Given the description of an element on the screen output the (x, y) to click on. 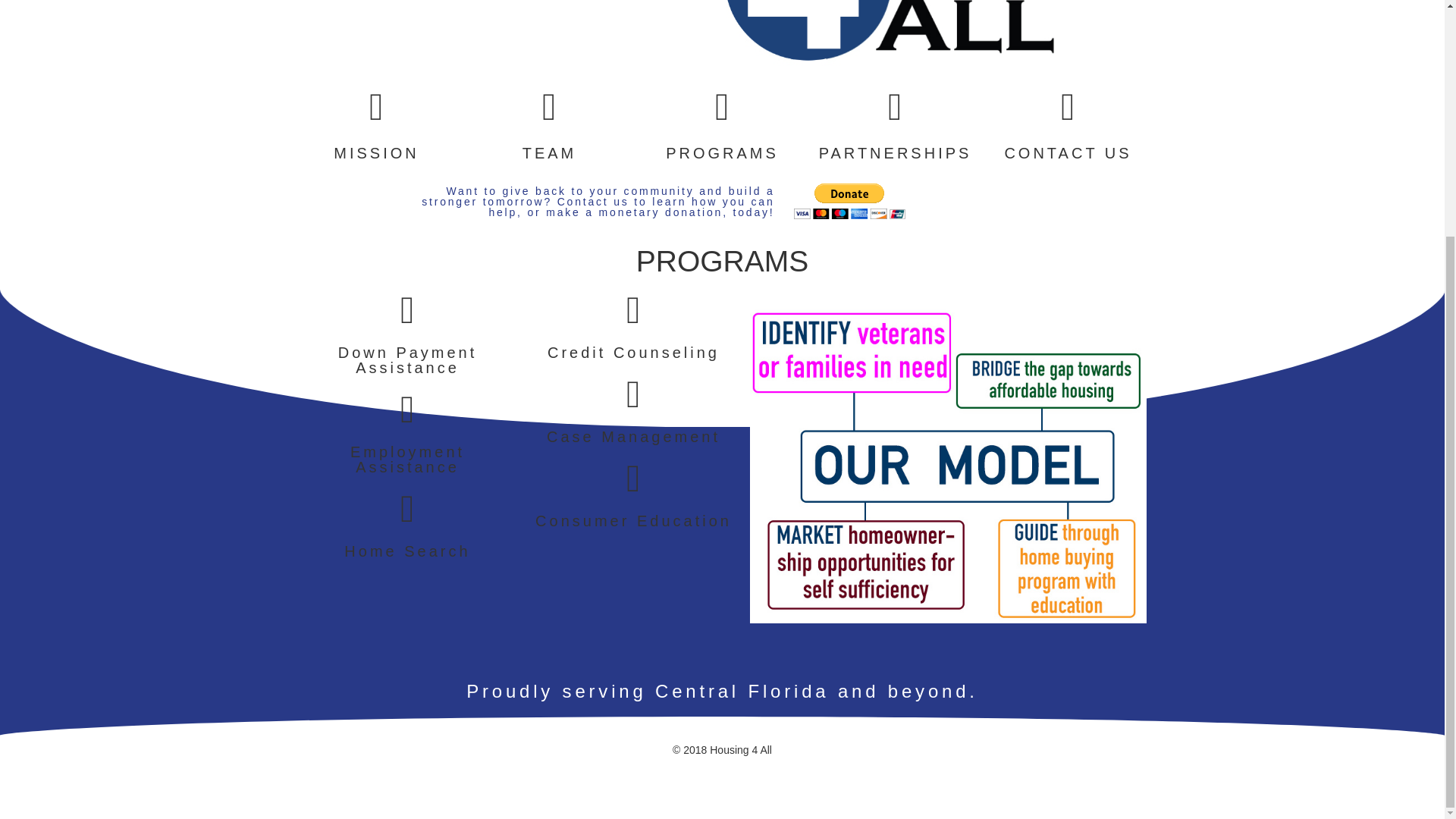
TEAM (549, 152)
PARTNERSHIPS (895, 152)
Housing 4 All Revised Logo (722, 36)
CONTACT US (1067, 152)
PROGRAMS (721, 152)
MISSION (376, 152)
